Given the description of an element on the screen output the (x, y) to click on. 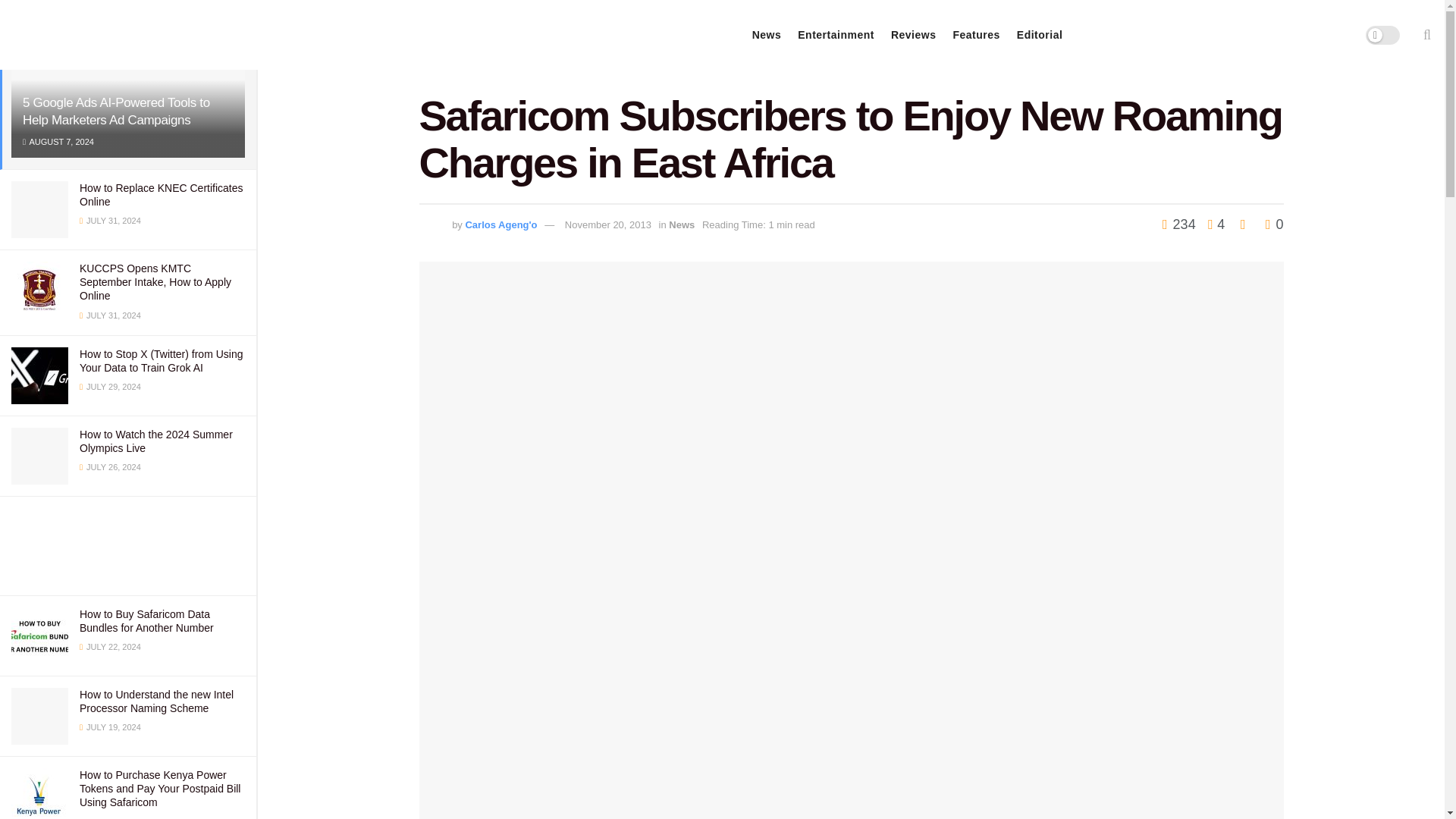
Entertainment (836, 34)
5 Google Ads AI-Powered Tools to Help Marketers Ad Campaigns (116, 111)
KUCCPS Opens KMTC September Intake, How to Apply Online (155, 282)
How to Replace KNEC Certificates Online (161, 194)
How to Watch the 2024 Summer Olympics Live (156, 441)
How to Understand the new Intel Processor Naming Scheme (156, 701)
Reviews (913, 34)
Features (975, 34)
DHgate Tablet Cases deals (127, 545)
News (766, 34)
How to Buy Safaricom Data Bundles for Another Number (147, 620)
Editorial (1039, 34)
